Given the description of an element on the screen output the (x, y) to click on. 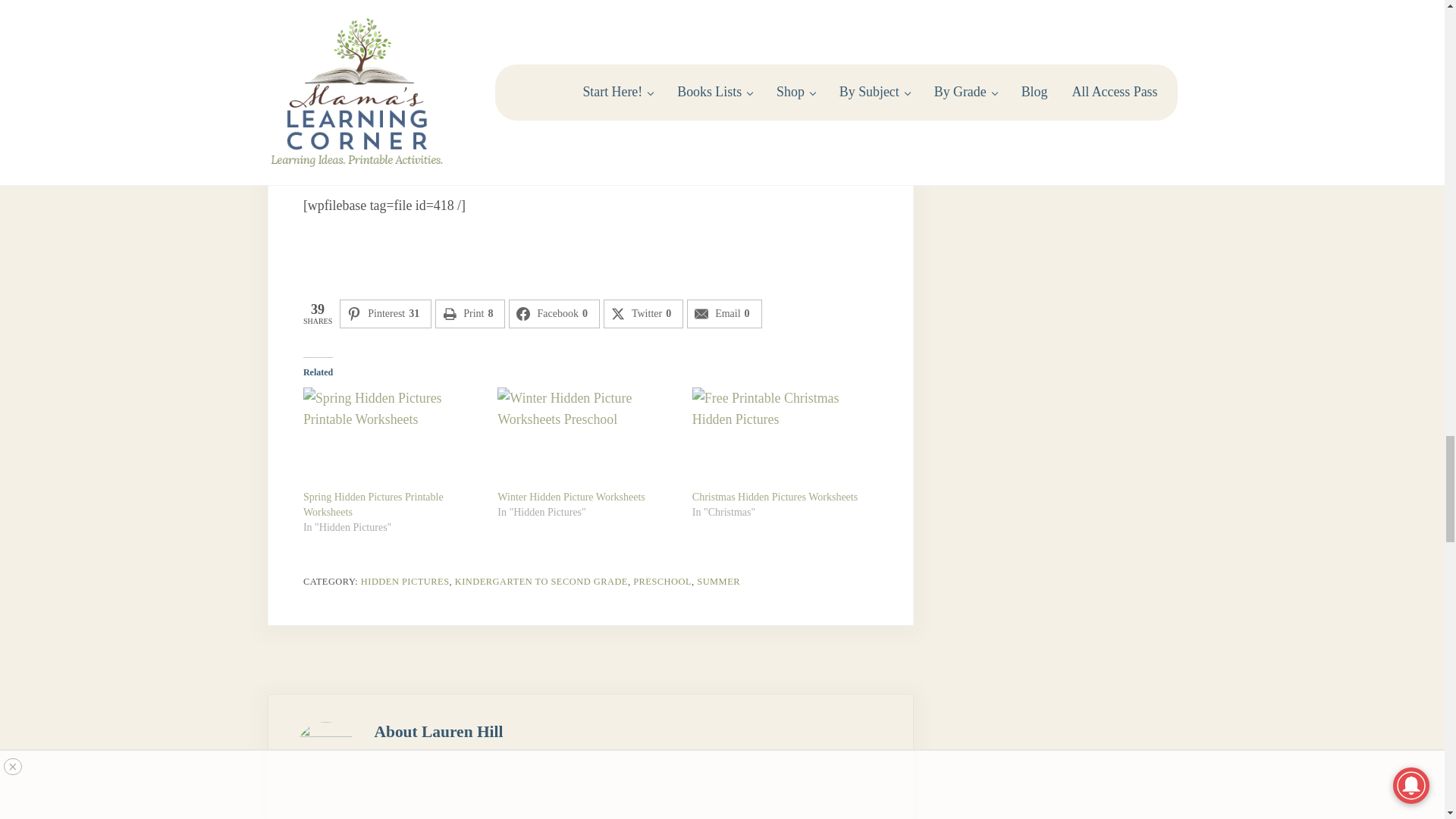
Share on Print (470, 313)
Share on Pinterest (384, 313)
Share on Twitter (643, 313)
Share on Facebook (553, 313)
